Given the description of an element on the screen output the (x, y) to click on. 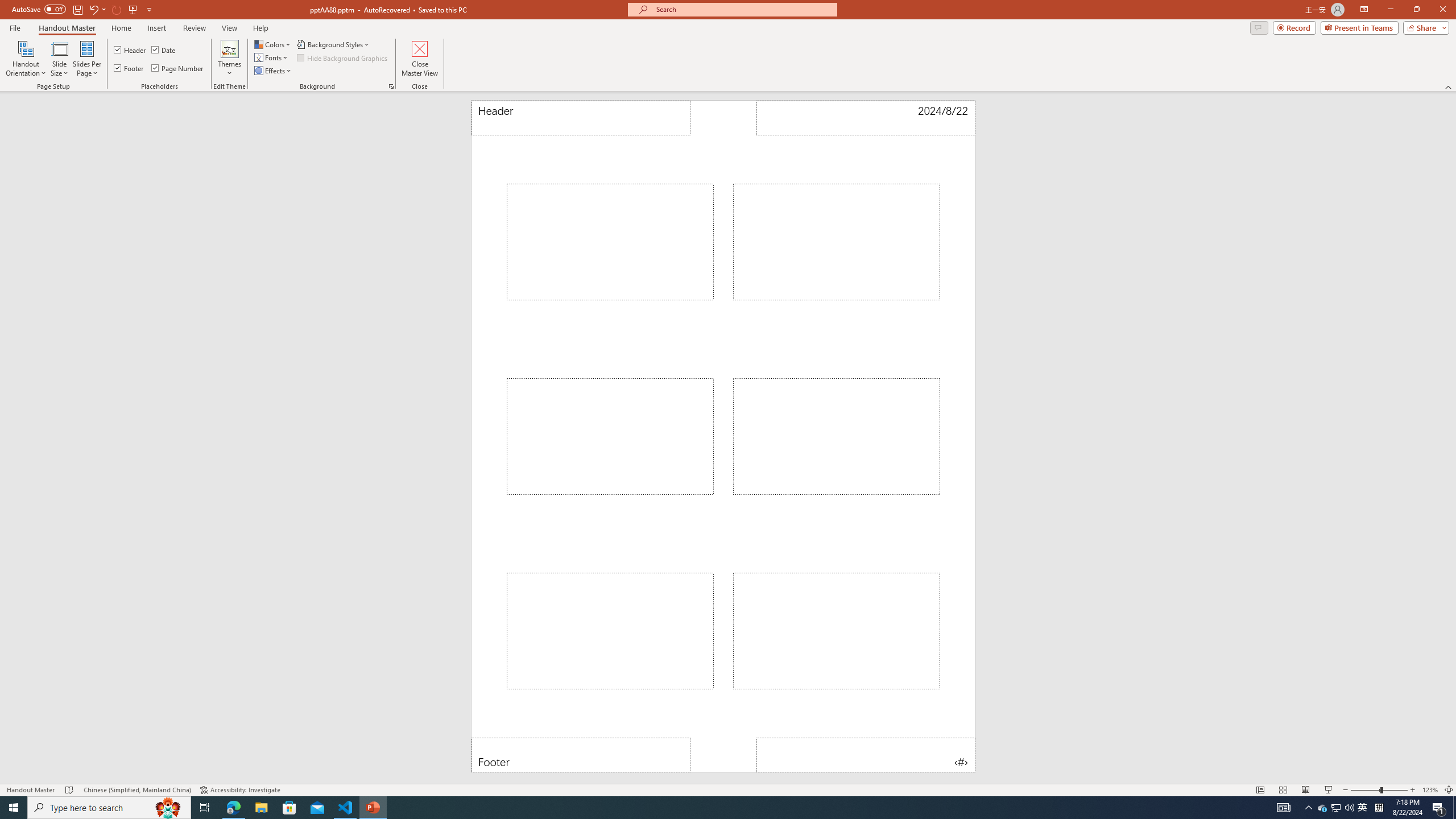
Colors (272, 44)
Page Number (866, 754)
Background Styles (333, 44)
Date (866, 117)
Zoom 123% (1430, 790)
Date (164, 49)
